Given the description of an element on the screen output the (x, y) to click on. 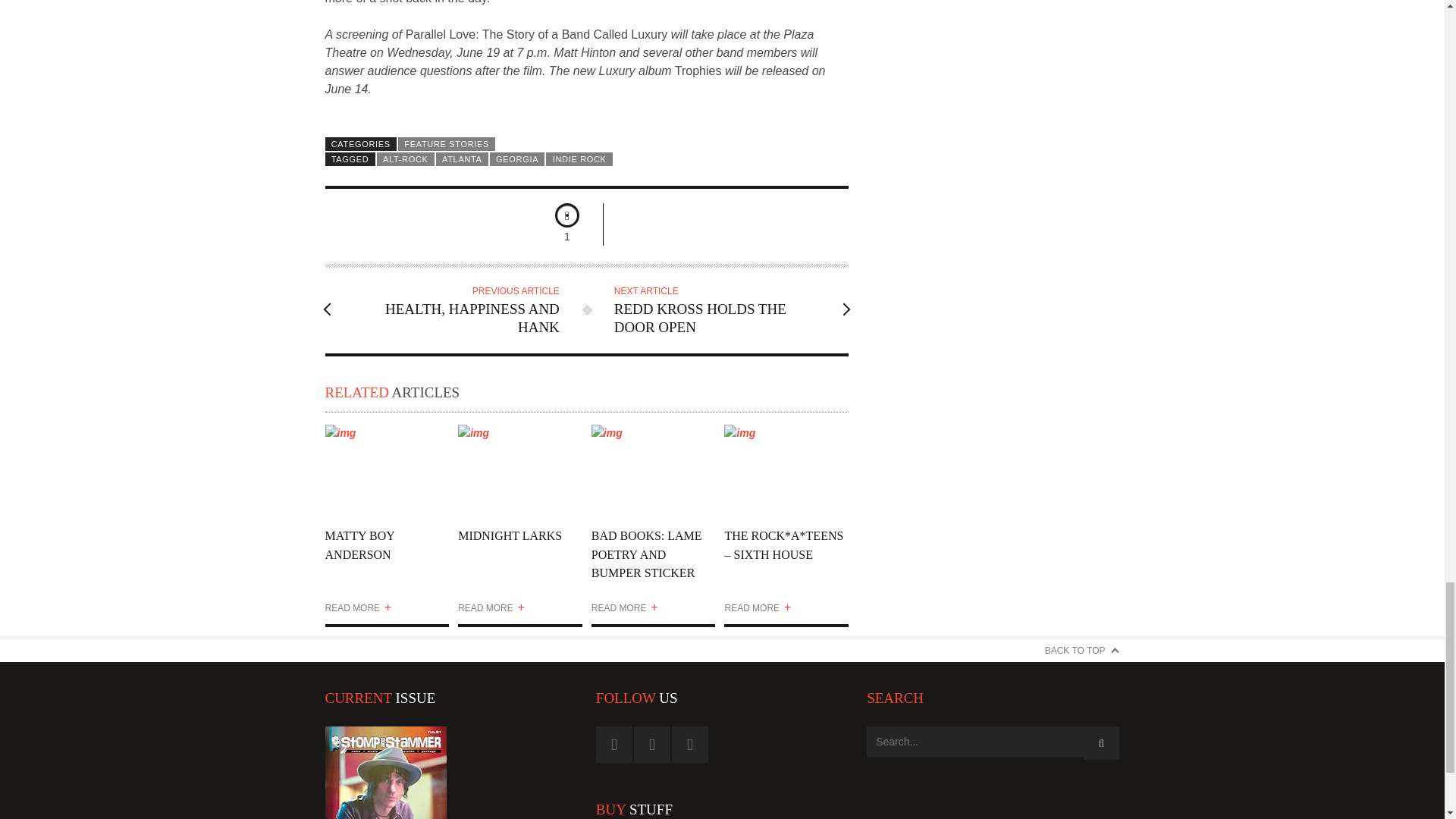
View all posts tagged Alt-Rock (405, 159)
View all posts tagged Atlanta (461, 159)
View all posts tagged Georgia (516, 159)
View all posts in Feature Stories (446, 143)
View all posts tagged Indie Rock (578, 159)
